Given the description of an element on the screen output the (x, y) to click on. 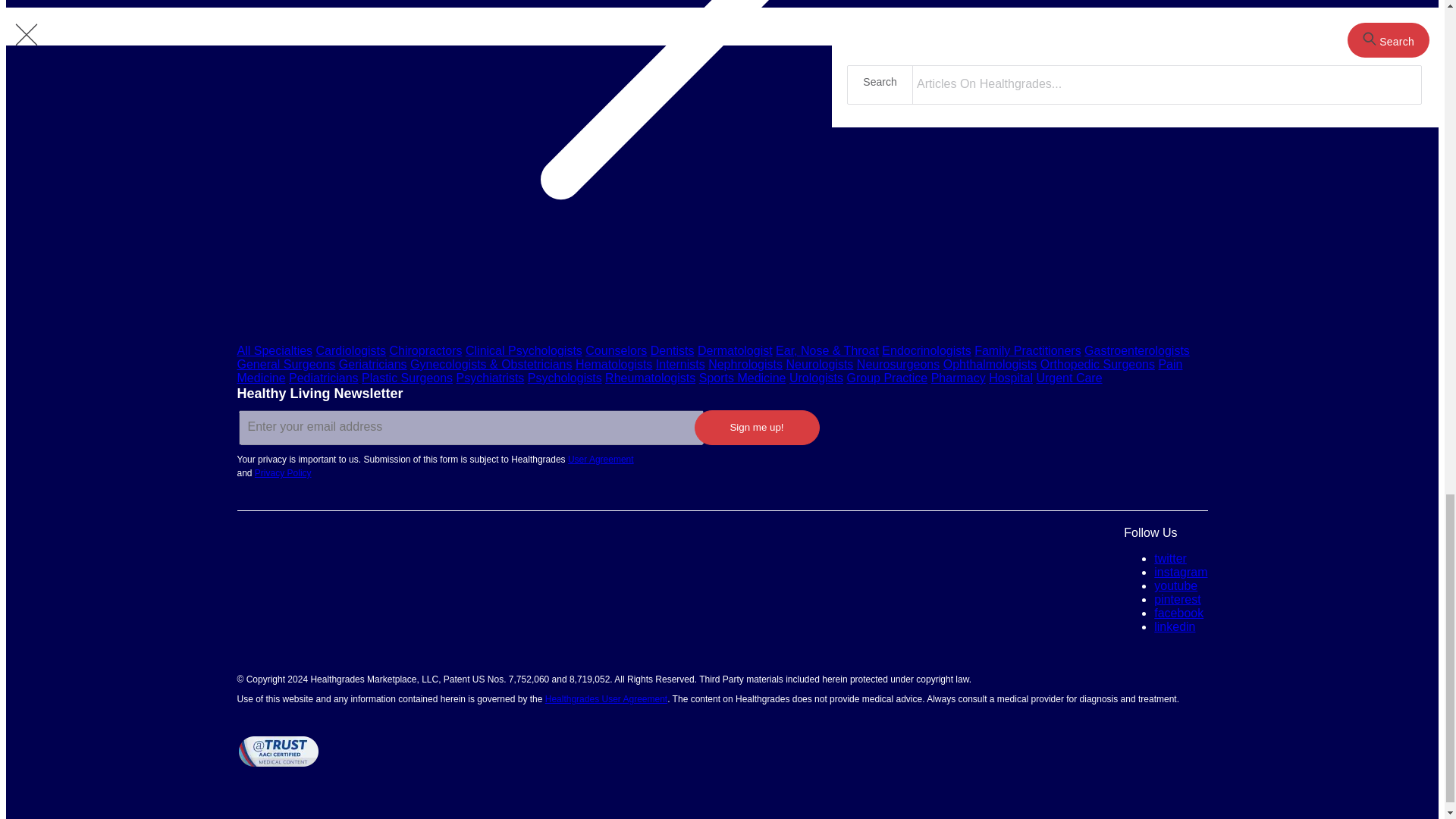
This website is certified by AACI. Click to verify. (277, 751)
